Given the description of an element on the screen output the (x, y) to click on. 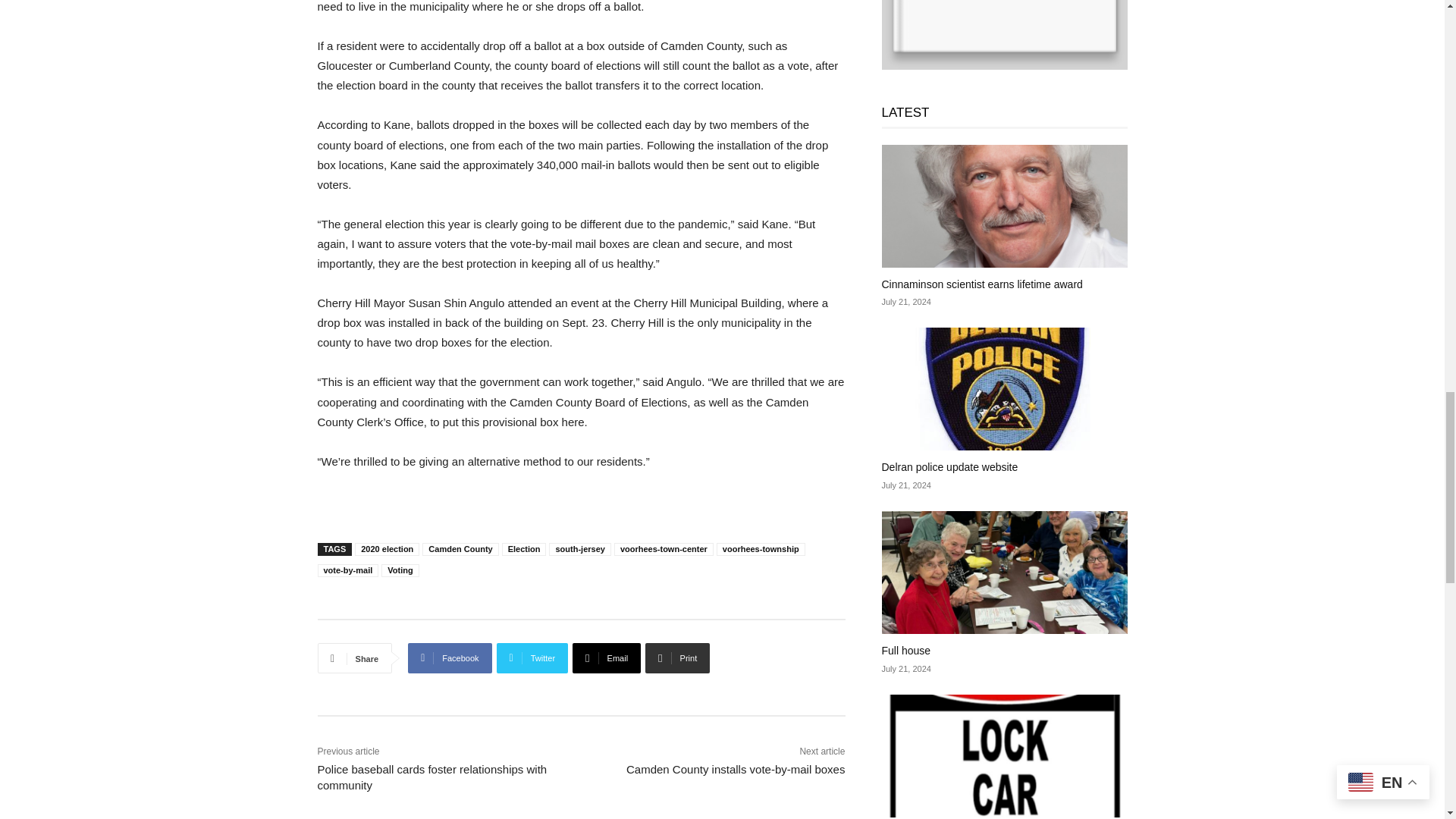
Facebook (449, 657)
Twitter (532, 657)
